Given the description of an element on the screen output the (x, y) to click on. 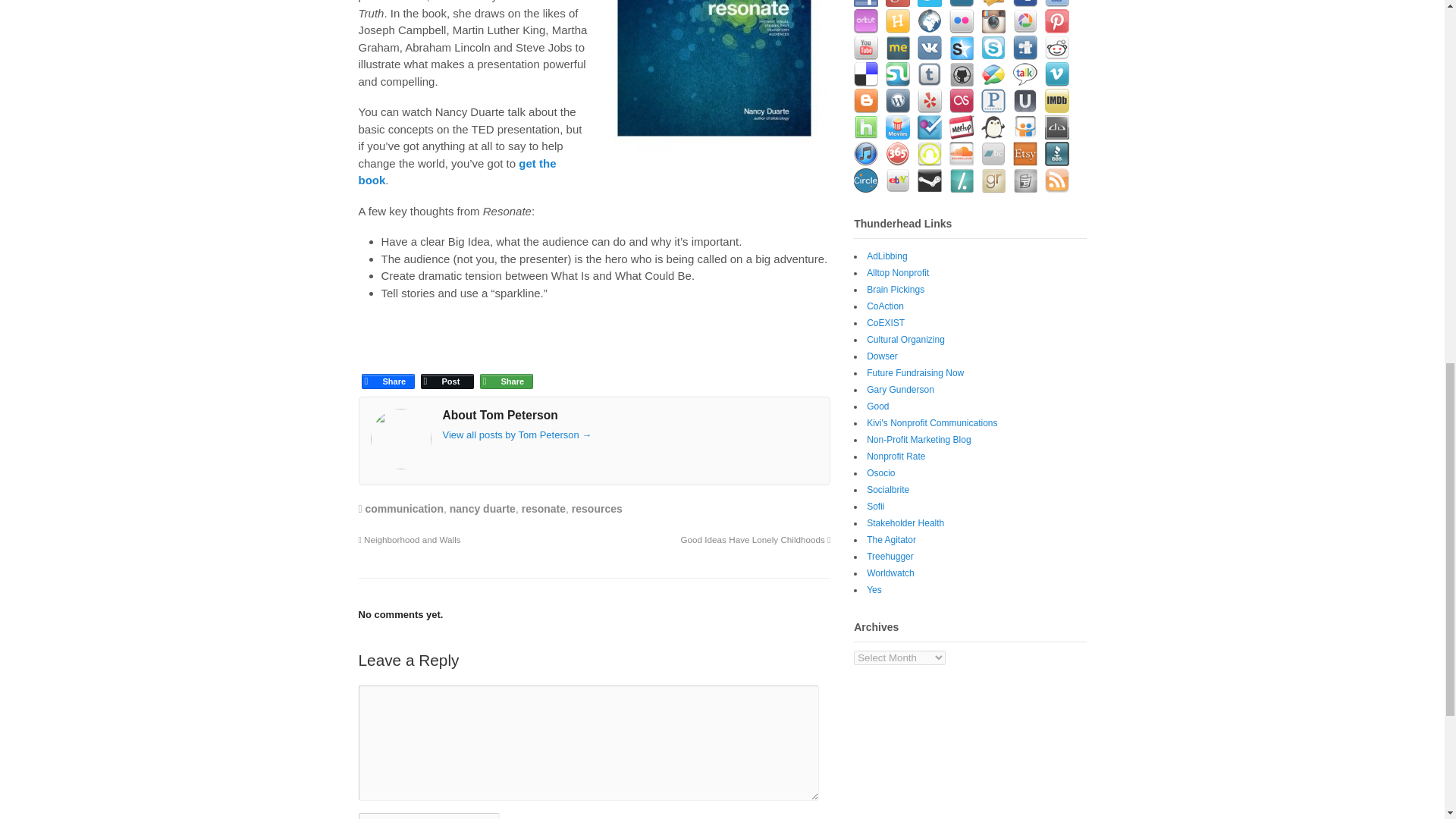
Resonate, Nancy Duarte (713, 58)
resonate the book (457, 133)
